Given the description of an element on the screen output the (x, y) to click on. 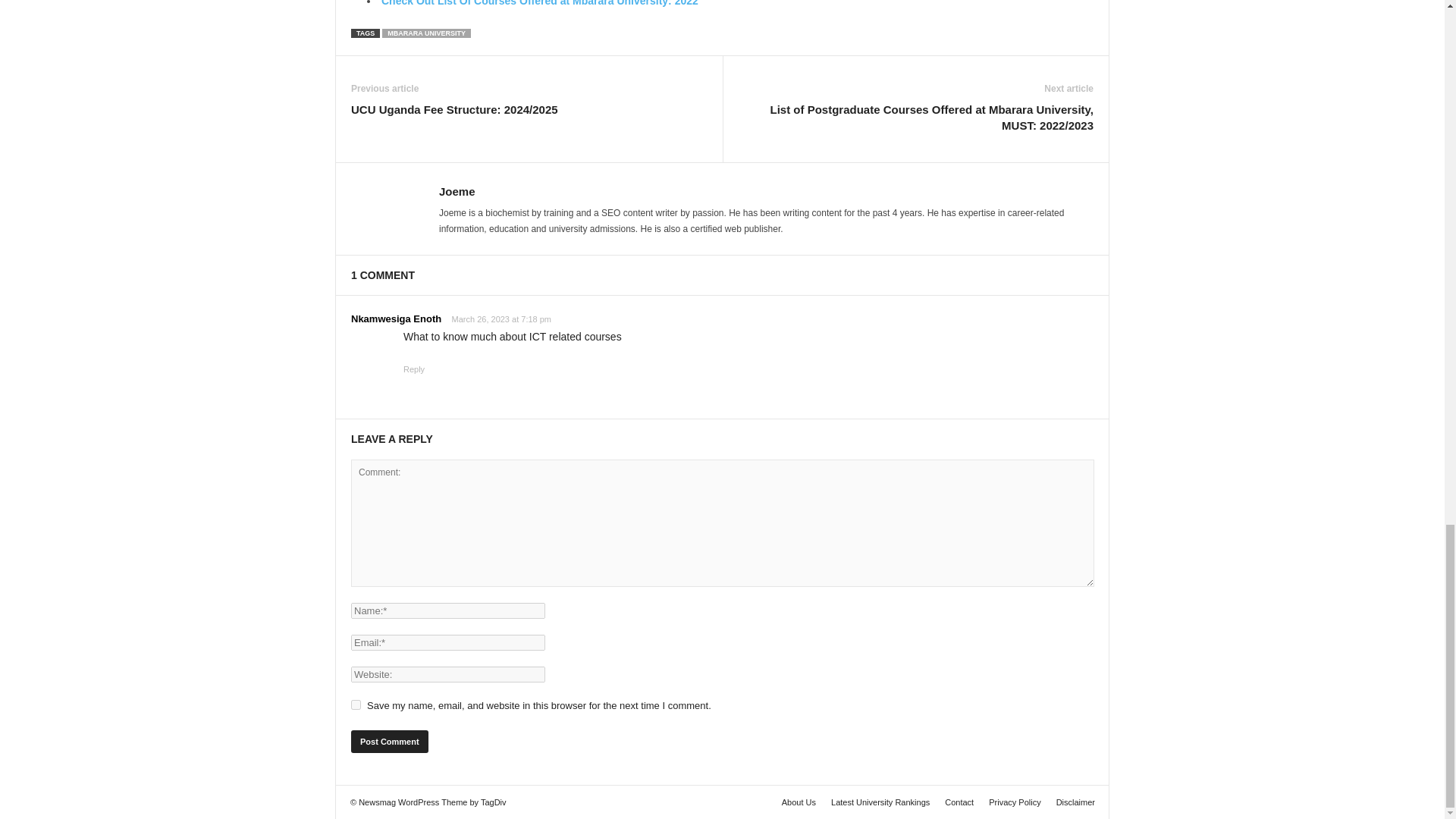
yes (355, 705)
Post Comment (389, 741)
